Given the description of an element on the screen output the (x, y) to click on. 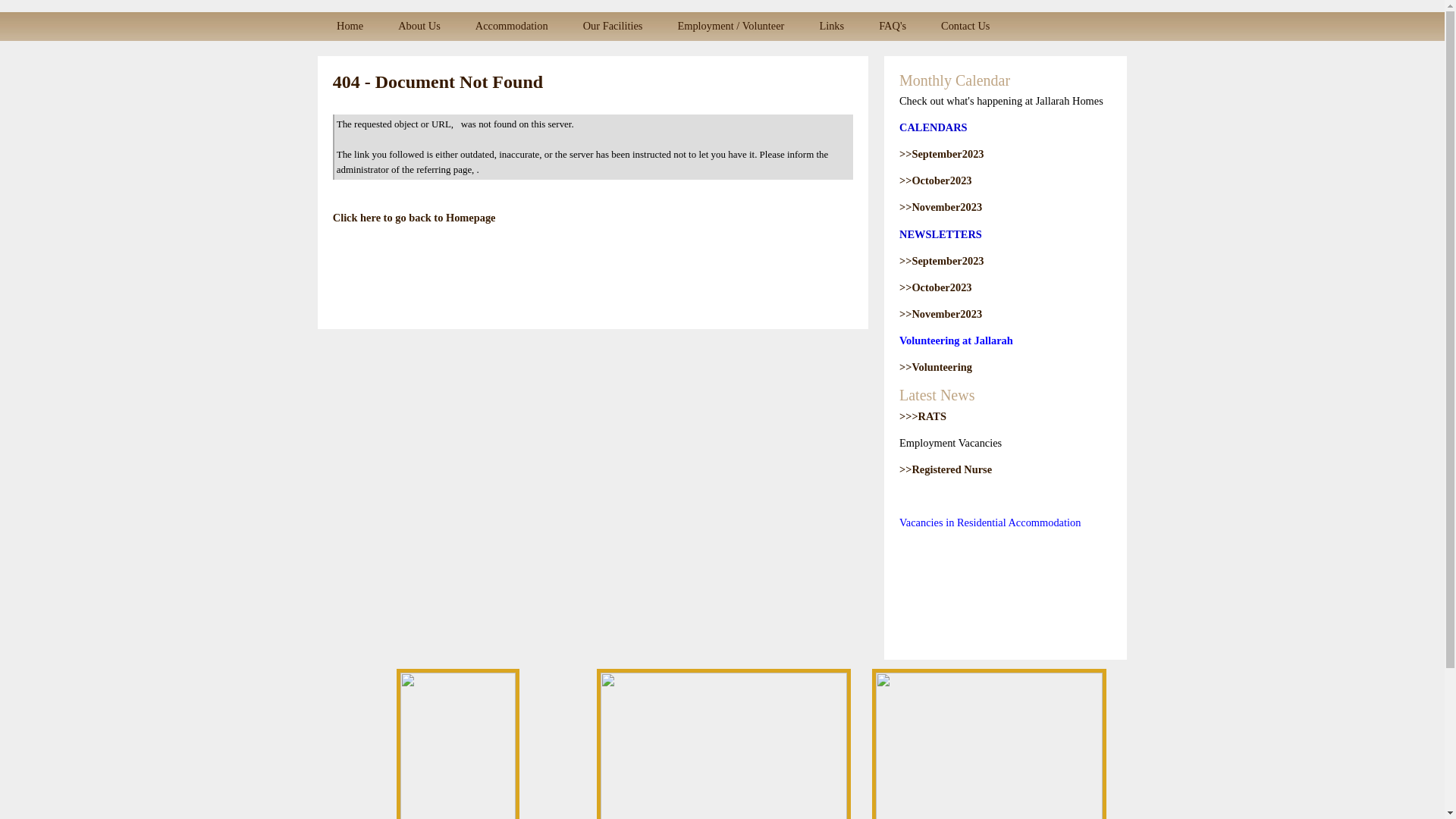
>>September2023 Element type: text (941, 153)
Our Facilities Element type: text (612, 26)
>>November2023 Element type: text (940, 206)
Links Element type: text (831, 26)
>>September2023 Element type: text (941, 260)
>>Volunteering Element type: text (935, 366)
>>October2023 Element type: text (935, 180)
FAQ's Element type: text (892, 26)
Contact Us Element type: text (965, 26)
>>November2023 Element type: text (940, 313)
Employment / Volunteer Element type: text (730, 26)
About Us Element type: text (419, 26)
>>October2023 Element type: text (935, 287)
Click here to go back to Homepage Element type: text (413, 217)
Accommodation Element type: text (511, 26)
>>Registered Nurse Element type: text (945, 469)
>>>RATS Element type: text (922, 416)
Home Element type: text (349, 26)
